Given the description of an element on the screen output the (x, y) to click on. 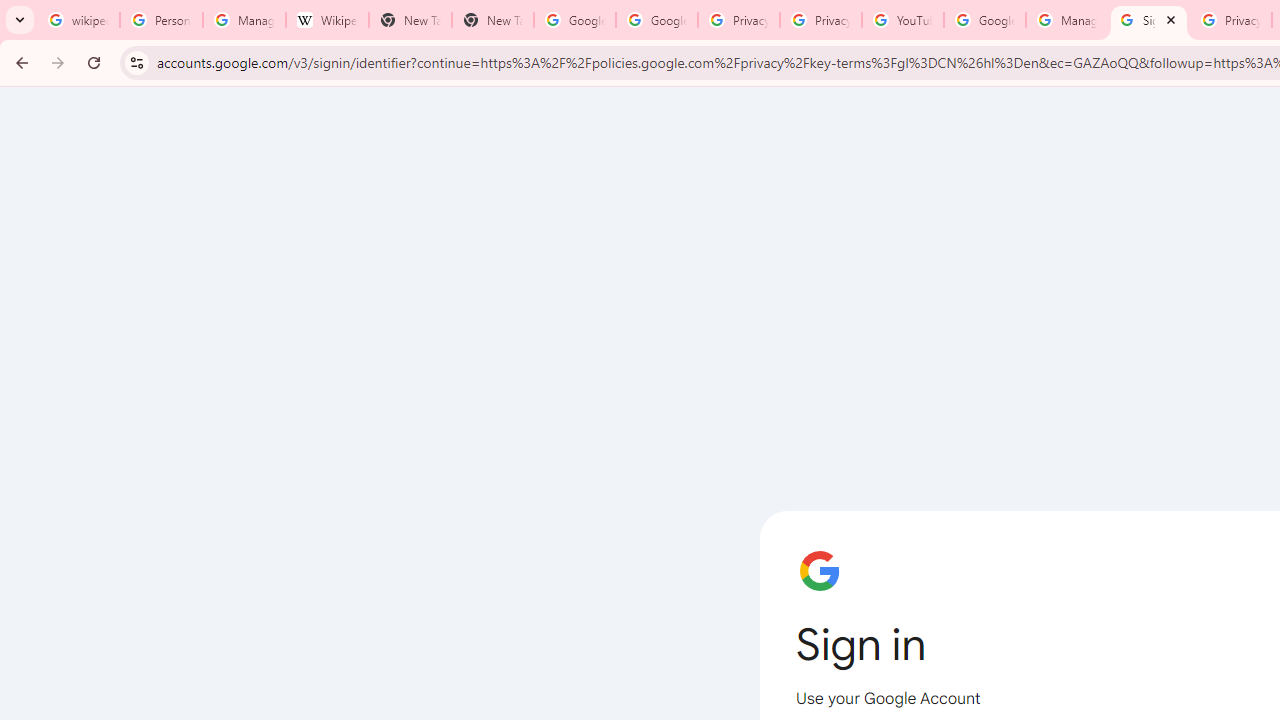
New Tab (492, 20)
Sign in - Google Accounts (1149, 20)
Google Account Help (984, 20)
